Given the description of an element on the screen output the (x, y) to click on. 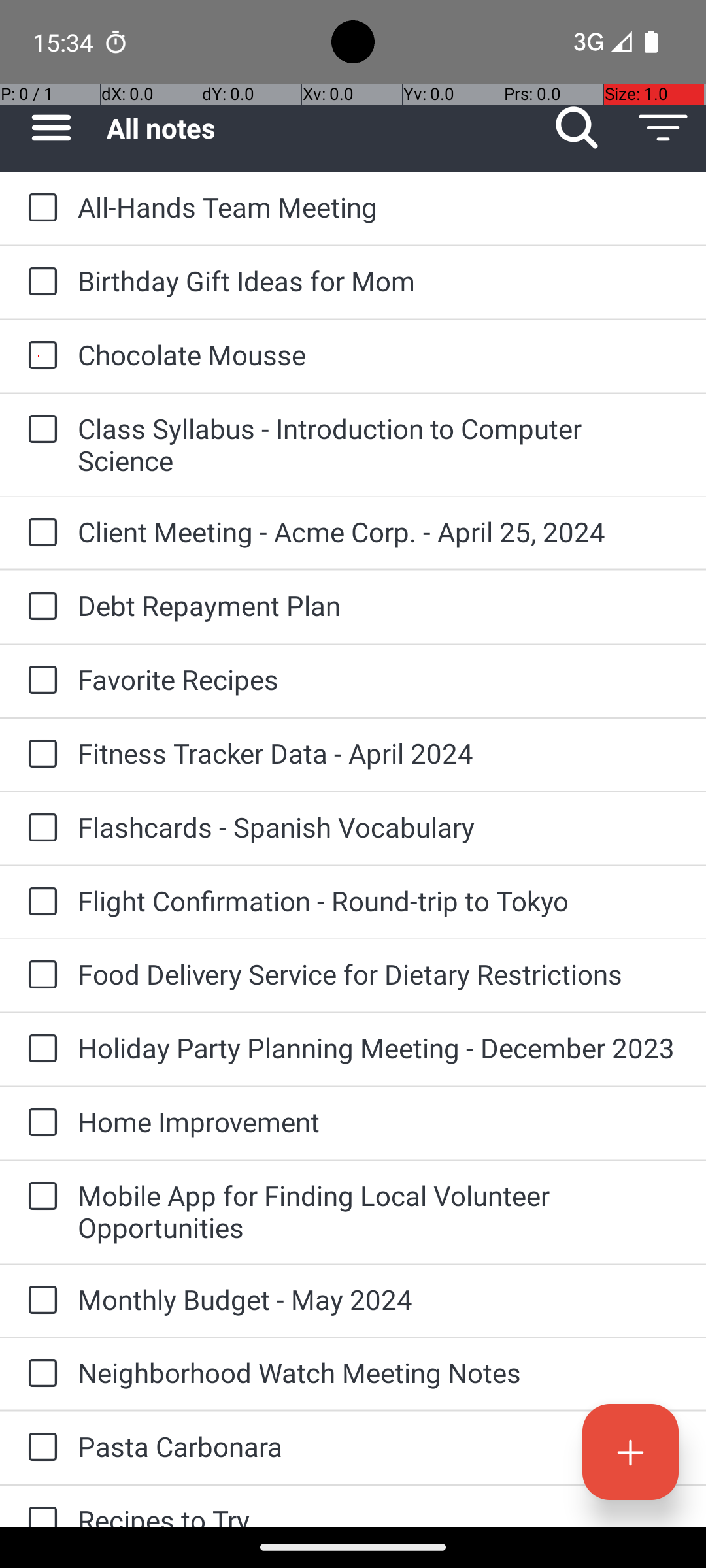
to-do: Birthday Gift Ideas for Mom Element type: android.widget.CheckBox (38, 282)
to-do: Chocolate Mousse Element type: android.widget.CheckBox (38, 356)
Chocolate Mousse Element type: android.widget.TextView (378, 354)
to-do: Class Syllabus - Introduction to Computer Science Element type: android.widget.CheckBox (38, 429)
Class Syllabus - Introduction to Computer Science Element type: android.widget.TextView (378, 443)
to-do: Debt Repayment Plan Element type: android.widget.CheckBox (38, 606)
to-do: Favorite Recipes Element type: android.widget.CheckBox (38, 680)
Favorite Recipes Element type: android.widget.TextView (378, 678)
to-do: Flashcards - Spanish Vocabulary Element type: android.widget.CheckBox (38, 828)
Flashcards - Spanish Vocabulary Element type: android.widget.TextView (378, 826)
to-do: Holiday Party Planning Meeting - December 2023 Element type: android.widget.CheckBox (38, 1049)
Holiday Party Planning Meeting - December 2023 Element type: android.widget.TextView (378, 1047)
to-do: Home Improvement Element type: android.widget.CheckBox (38, 1123)
Home Improvement Element type: android.widget.TextView (378, 1121)
to-do: Monthly Budget - May 2024 Element type: android.widget.CheckBox (38, 1300)
Monthly Budget - May 2024 Element type: android.widget.TextView (378, 1298)
to-do: Neighborhood Watch Meeting Notes Element type: android.widget.CheckBox (38, 1373)
Neighborhood Watch Meeting Notes Element type: android.widget.TextView (378, 1371)
to-do: Pasta Carbonara Element type: android.widget.CheckBox (38, 1447)
Pasta Carbonara Element type: android.widget.TextView (378, 1445)
to-do: Recipes to Try Element type: android.widget.CheckBox (38, 1505)
Recipes to Try Element type: android.widget.TextView (378, 1513)
